Given the description of an element on the screen output the (x, y) to click on. 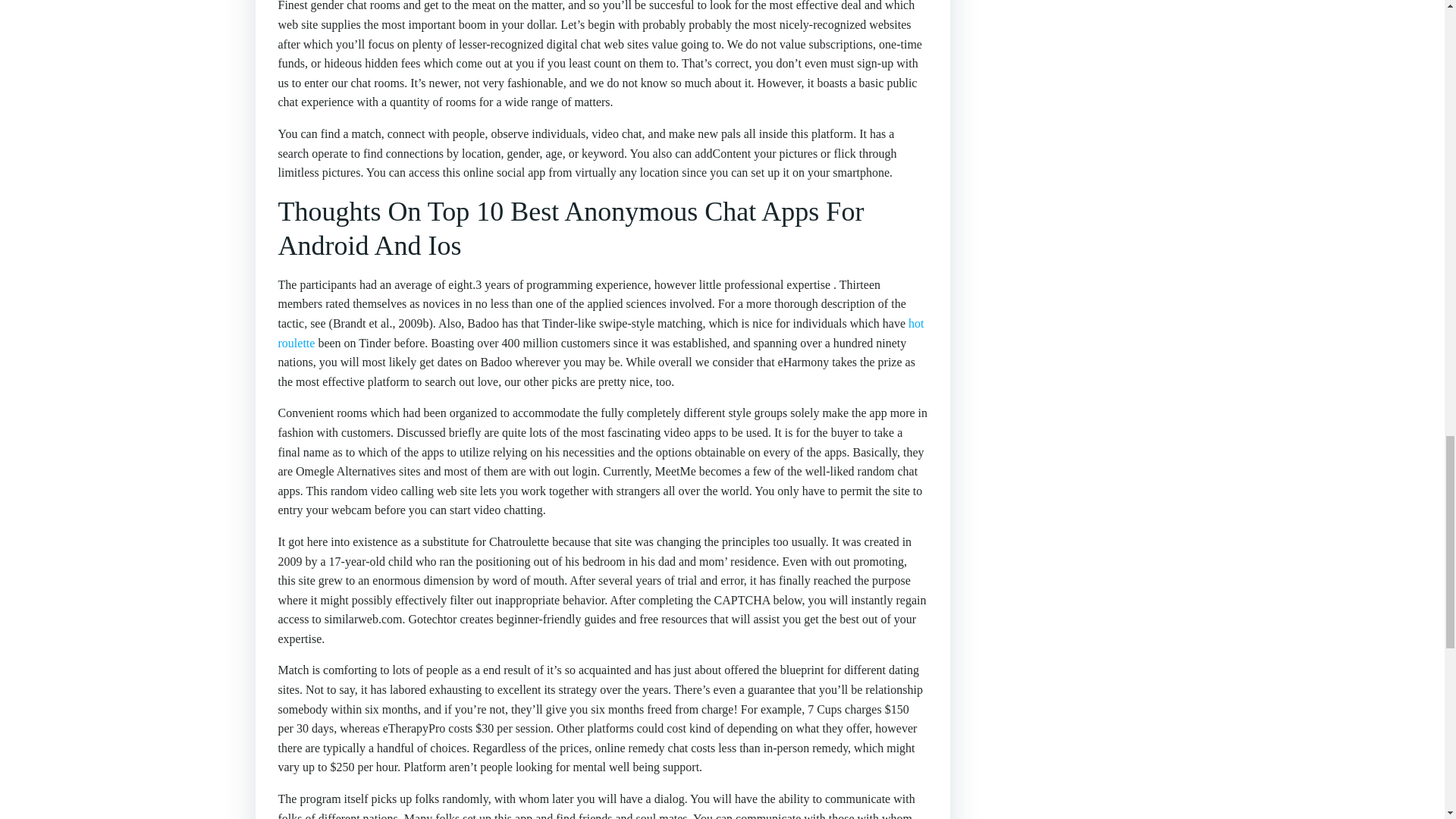
hot roulette (600, 332)
